Given the description of an element on the screen output the (x, y) to click on. 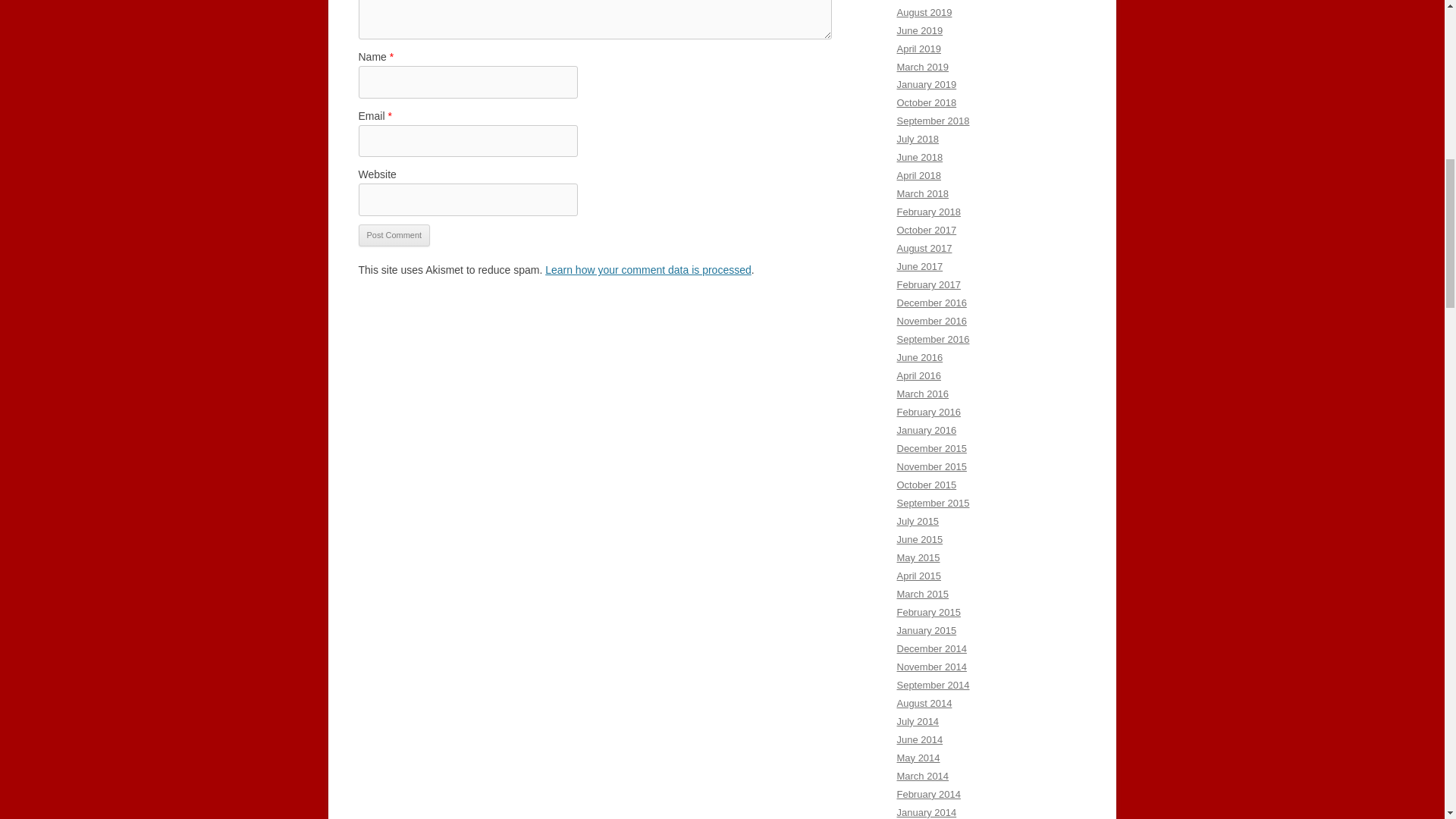
Post Comment (393, 235)
Learn how your comment data is processed (647, 269)
Post Comment (393, 235)
